Given the description of an element on the screen output the (x, y) to click on. 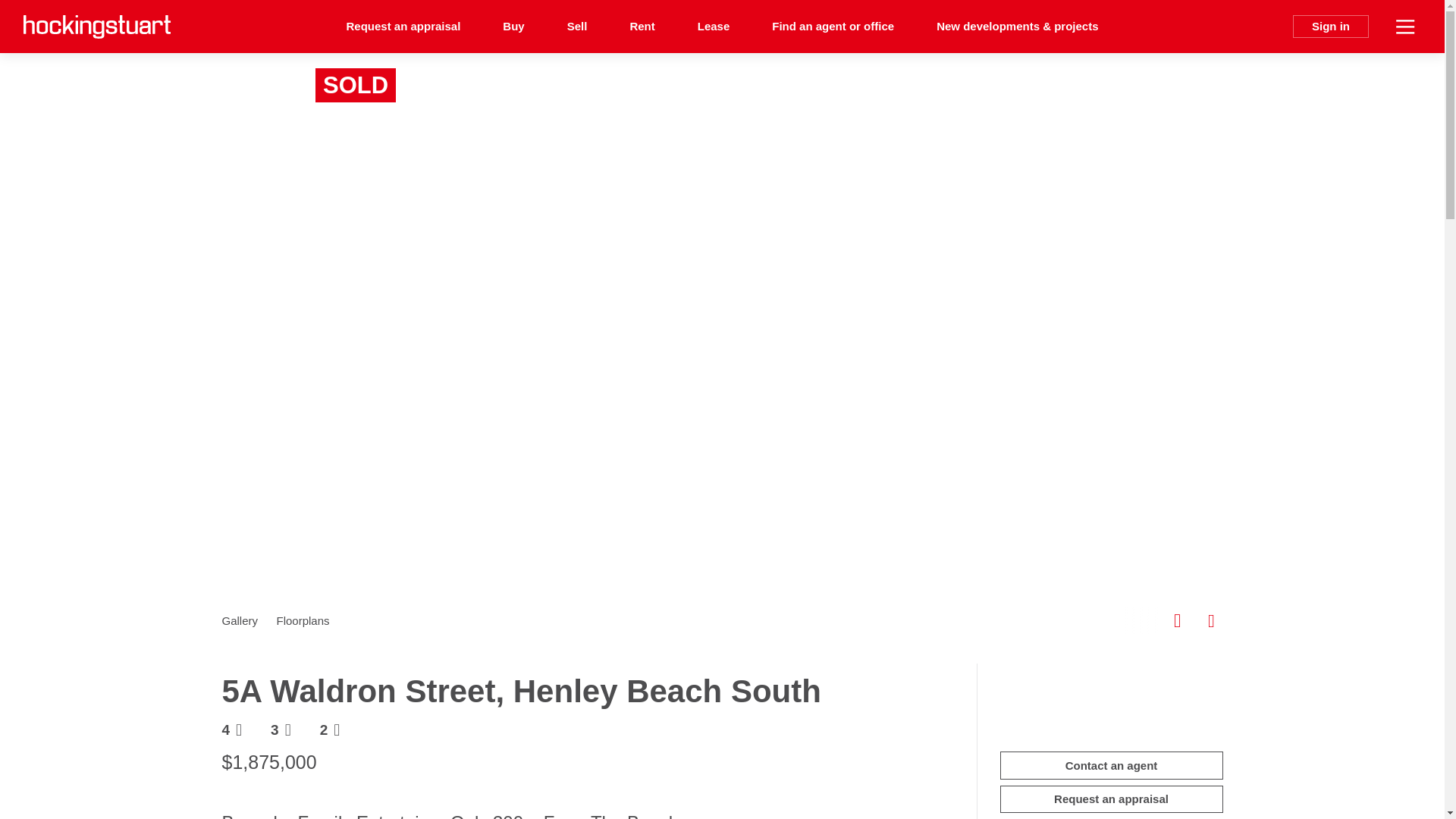
Buy (513, 26)
Rent (641, 26)
Request an appraisal (402, 26)
Sell (577, 26)
Lease (714, 26)
Find an agent or office (832, 26)
